Given the description of an element on the screen output the (x, y) to click on. 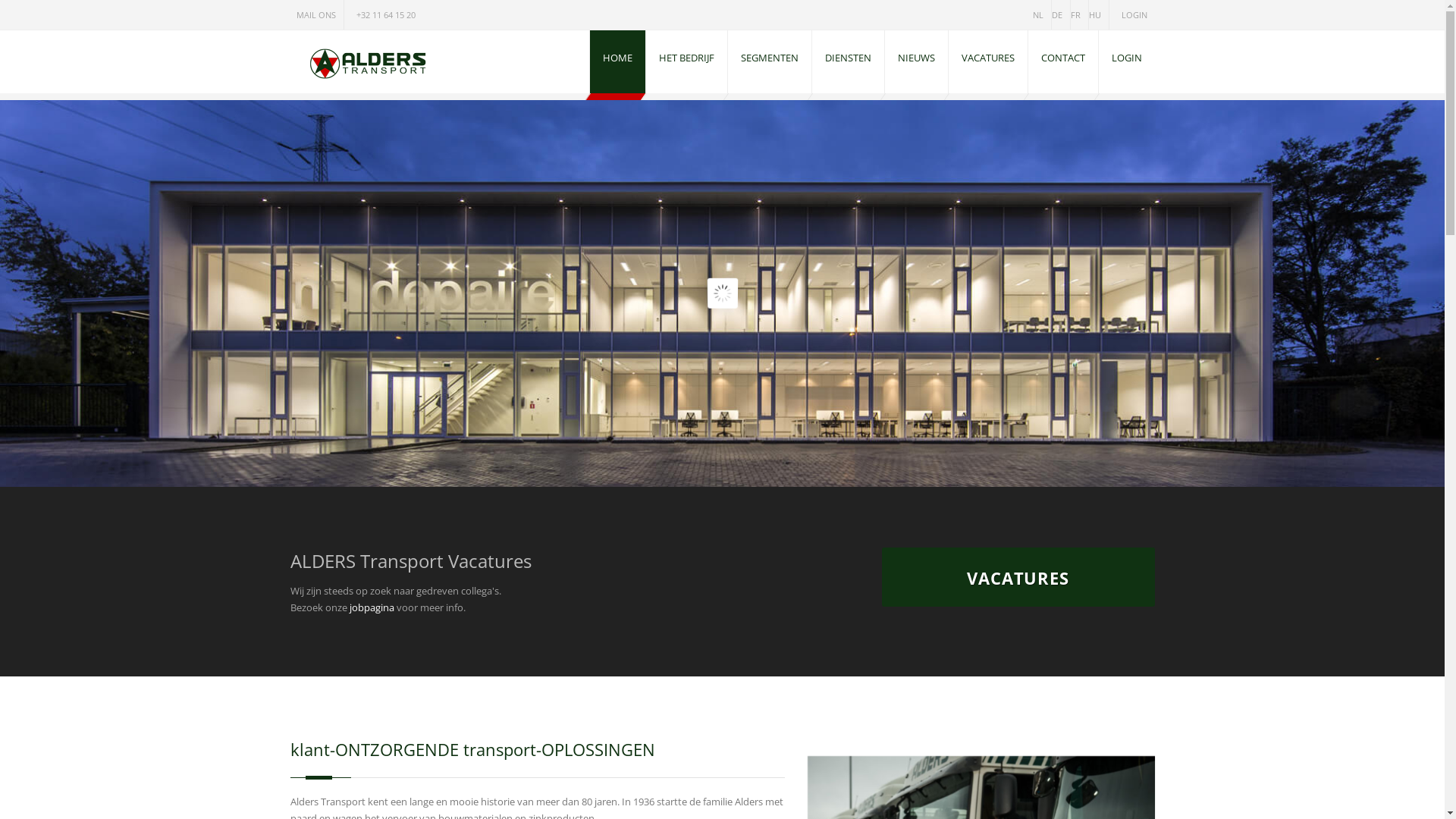
HET BEDRIJF Element type: text (686, 61)
LOGIN Element type: text (1131, 14)
LOGIN Element type: text (1126, 61)
HU Element type: text (1098, 14)
HOME Element type: text (617, 61)
VACATURES Element type: text (1017, 576)
MAIL ONS Element type: text (315, 14)
DE Element type: text (1060, 14)
NIEUWS Element type: text (915, 61)
jobpagina Element type: text (370, 607)
NL Element type: text (1041, 14)
CONTACT Element type: text (1063, 61)
FR Element type: text (1079, 14)
SEGMENTEN Element type: text (769, 61)
VACATURES Element type: text (986, 61)
DIENSTEN Element type: text (847, 61)
